Given the description of an element on the screen output the (x, y) to click on. 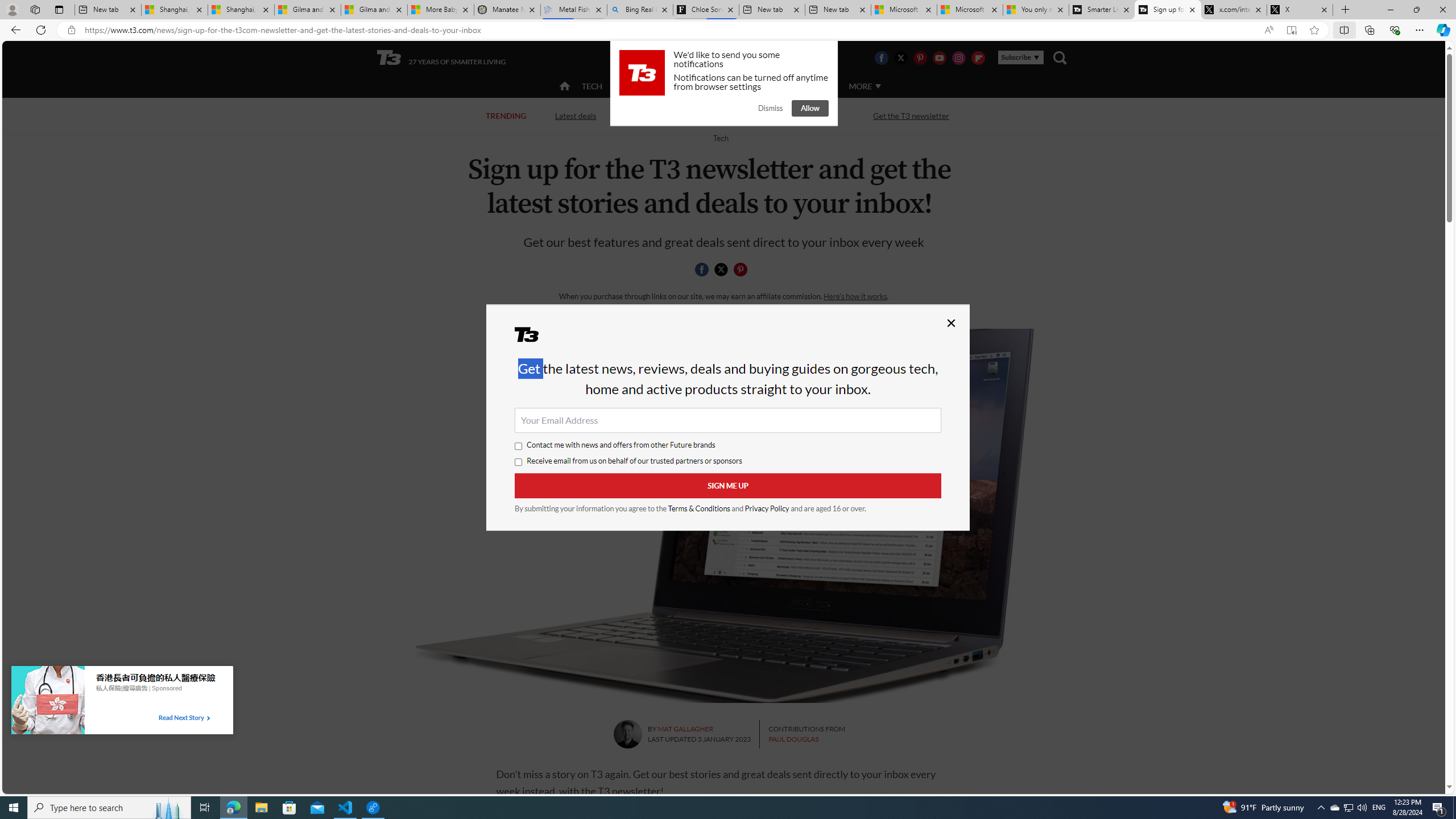
Image for Taboola Advertising Unit (47, 702)
Class: svg-arrow-down (877, 86)
Class: social__item (742, 271)
T3 newsletter (723, 515)
TECH (591, 85)
Visit us on Twitter (900, 57)
Terms & Conditions (699, 508)
HOME LIVING (701, 86)
flag of UK (752, 57)
Share this page on Facebook (701, 269)
